Given the description of an element on the screen output the (x, y) to click on. 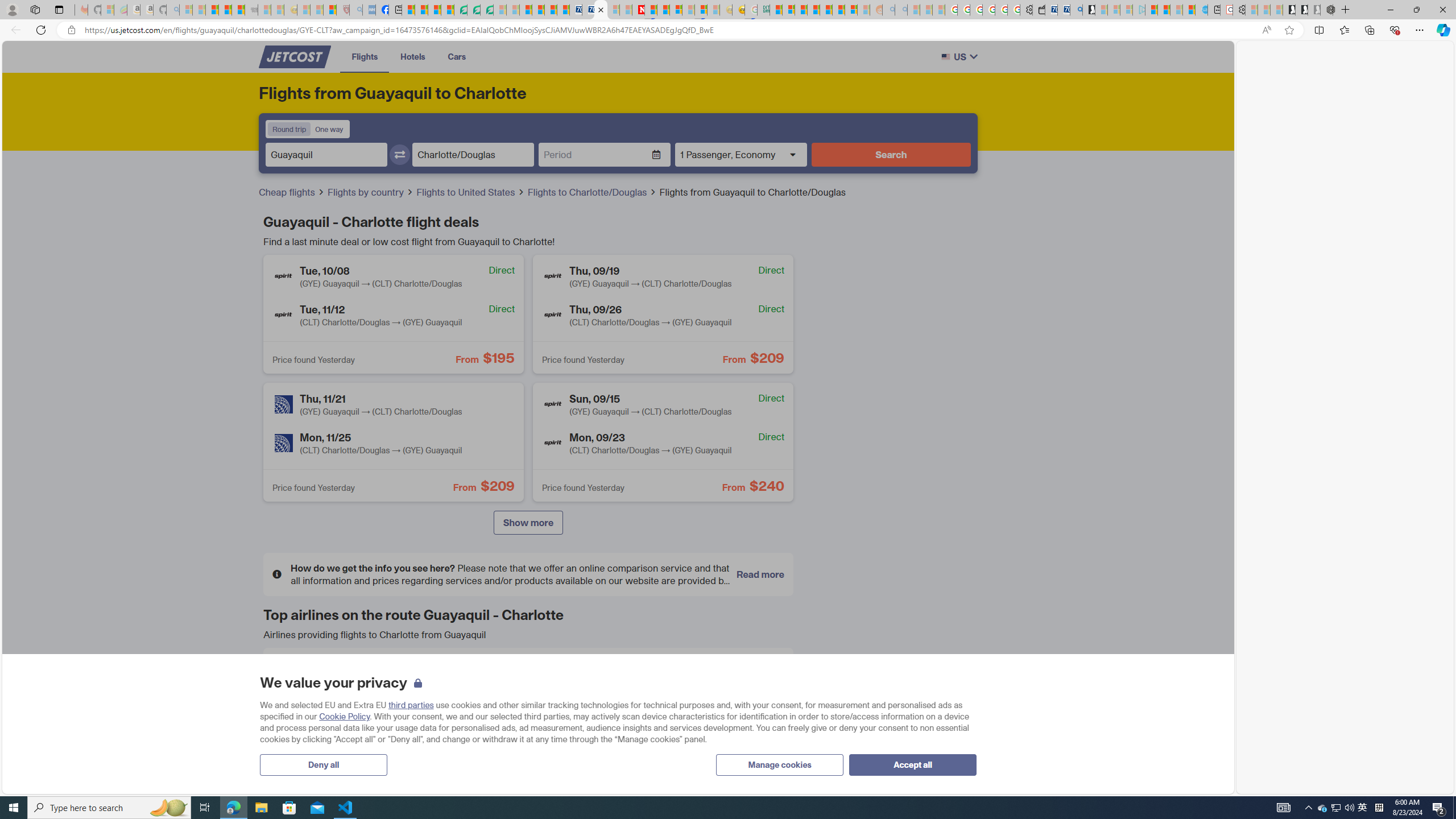
New tab (1213, 9)
Class: w-full h-auto rounded-sm border border-gray-200 (945, 56)
Flights to Charlotte/Douglas (592, 191)
Copa Airlines Copa Airlines (699, 675)
Copa Airlines (635, 674)
Cheap Hotels - Save70.com (587, 9)
list of asthma inhalers uk - Search - Sleeping (355, 9)
Departure place (325, 154)
Workspaces (34, 9)
LendingTree - Compare Lenders (460, 9)
App bar (728, 29)
United United (356, 757)
